Given the description of an element on the screen output the (x, y) to click on. 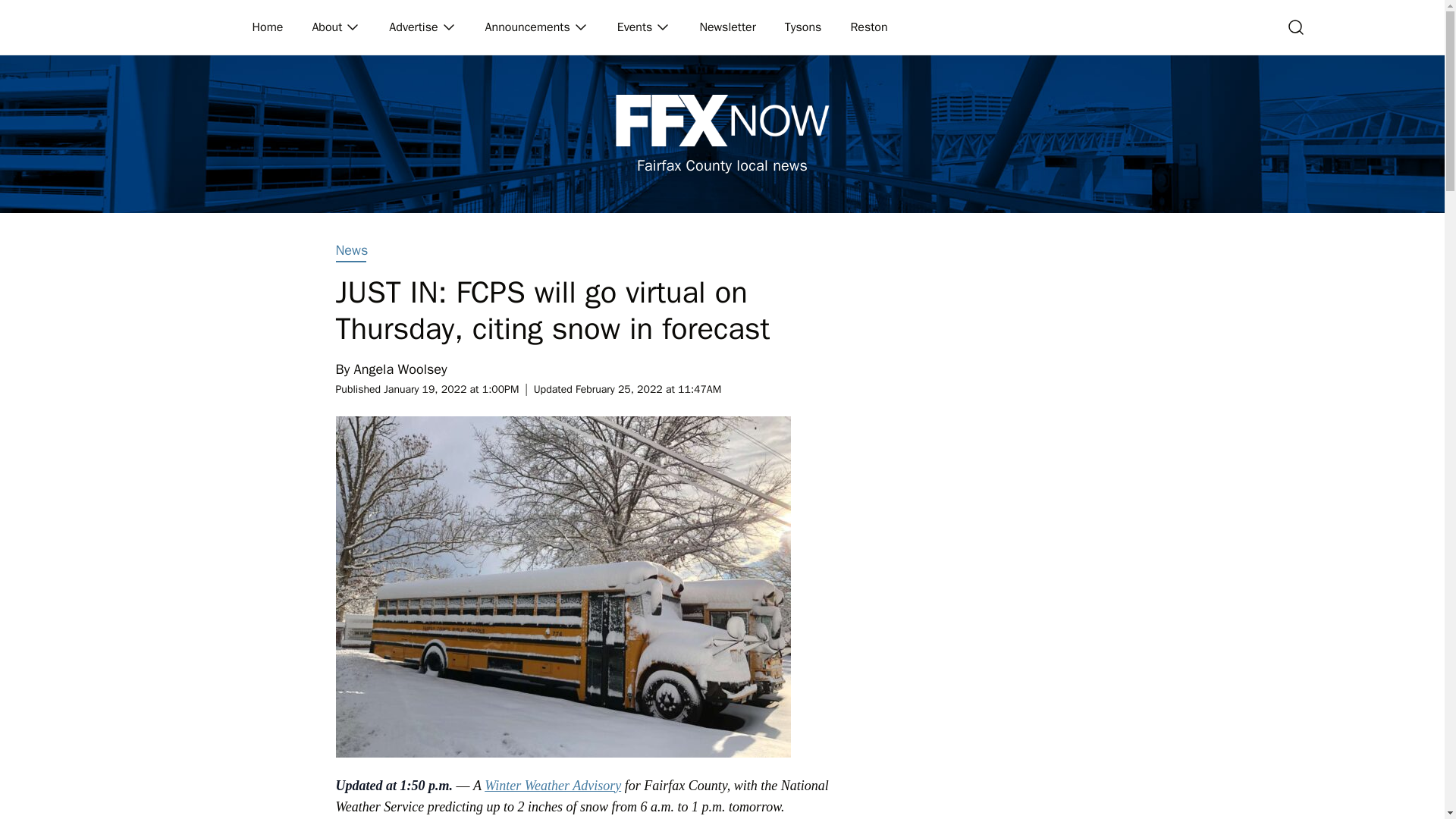
Announcements (528, 27)
Advertise (413, 27)
About (327, 27)
Home (267, 27)
